Given the description of an element on the screen output the (x, y) to click on. 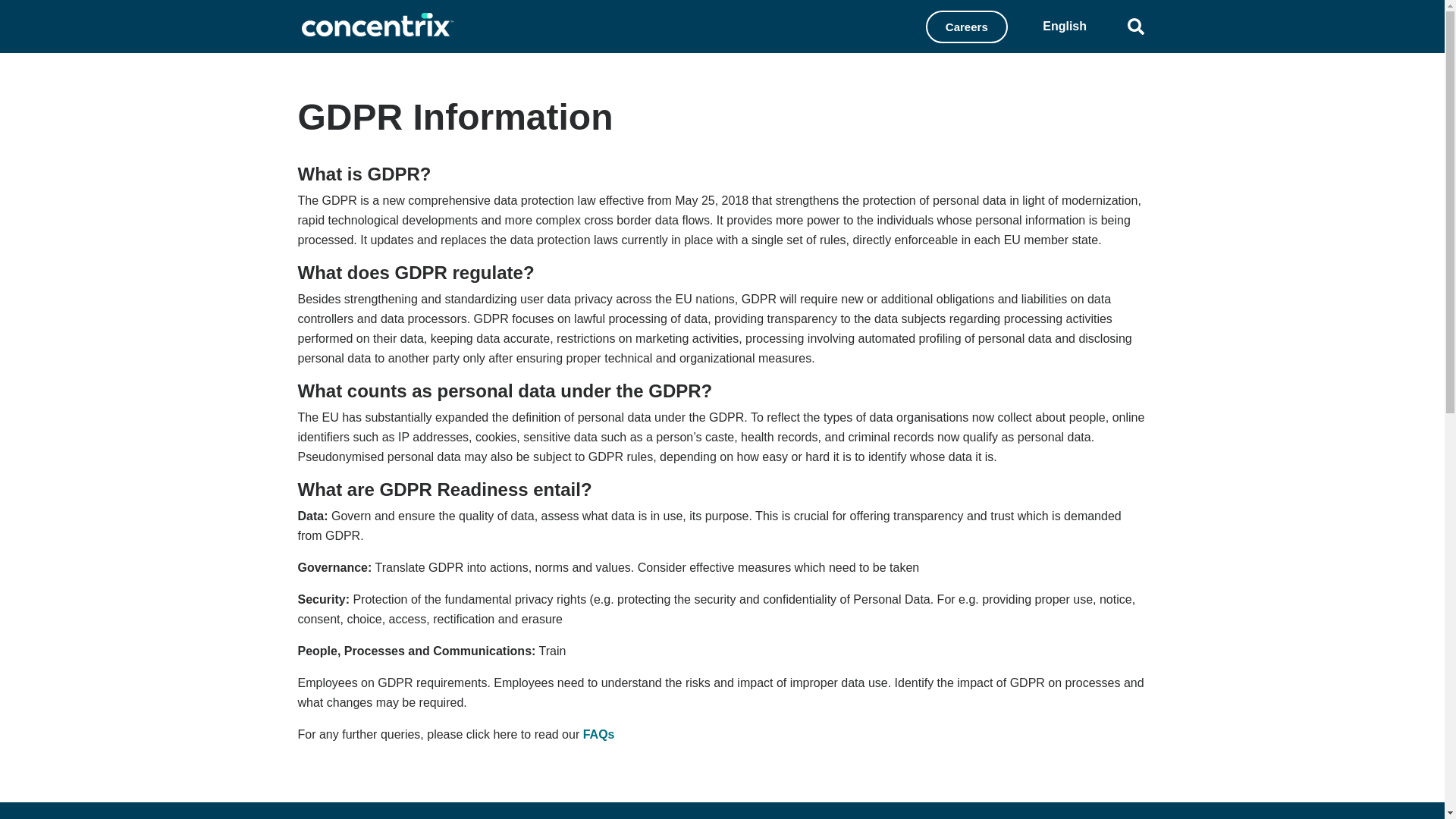
English (1064, 26)
FAQs (598, 734)
Careers (966, 26)
